Given the description of an element on the screen output the (x, y) to click on. 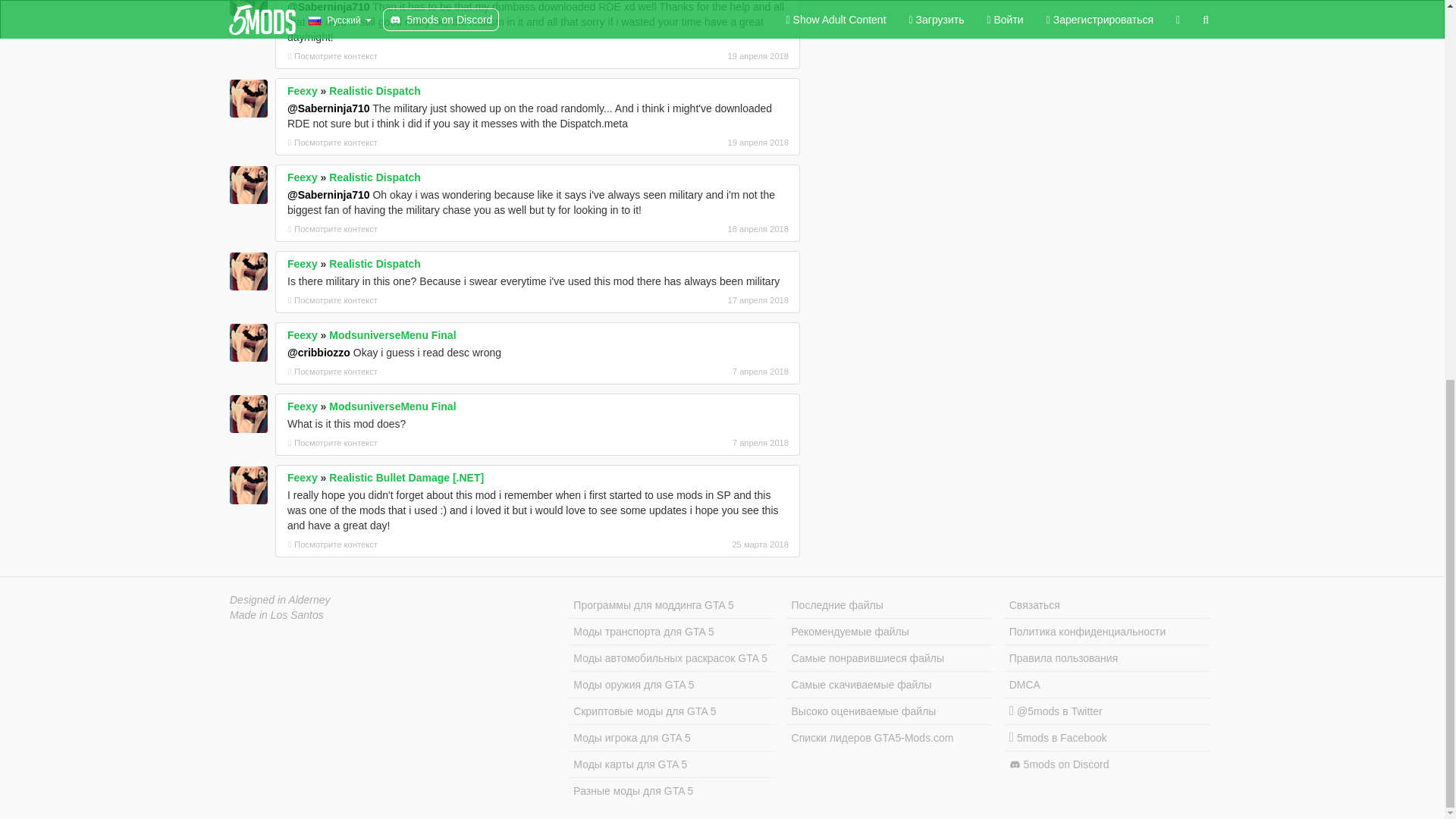
5mods on Discord (1106, 764)
